Given the description of an element on the screen output the (x, y) to click on. 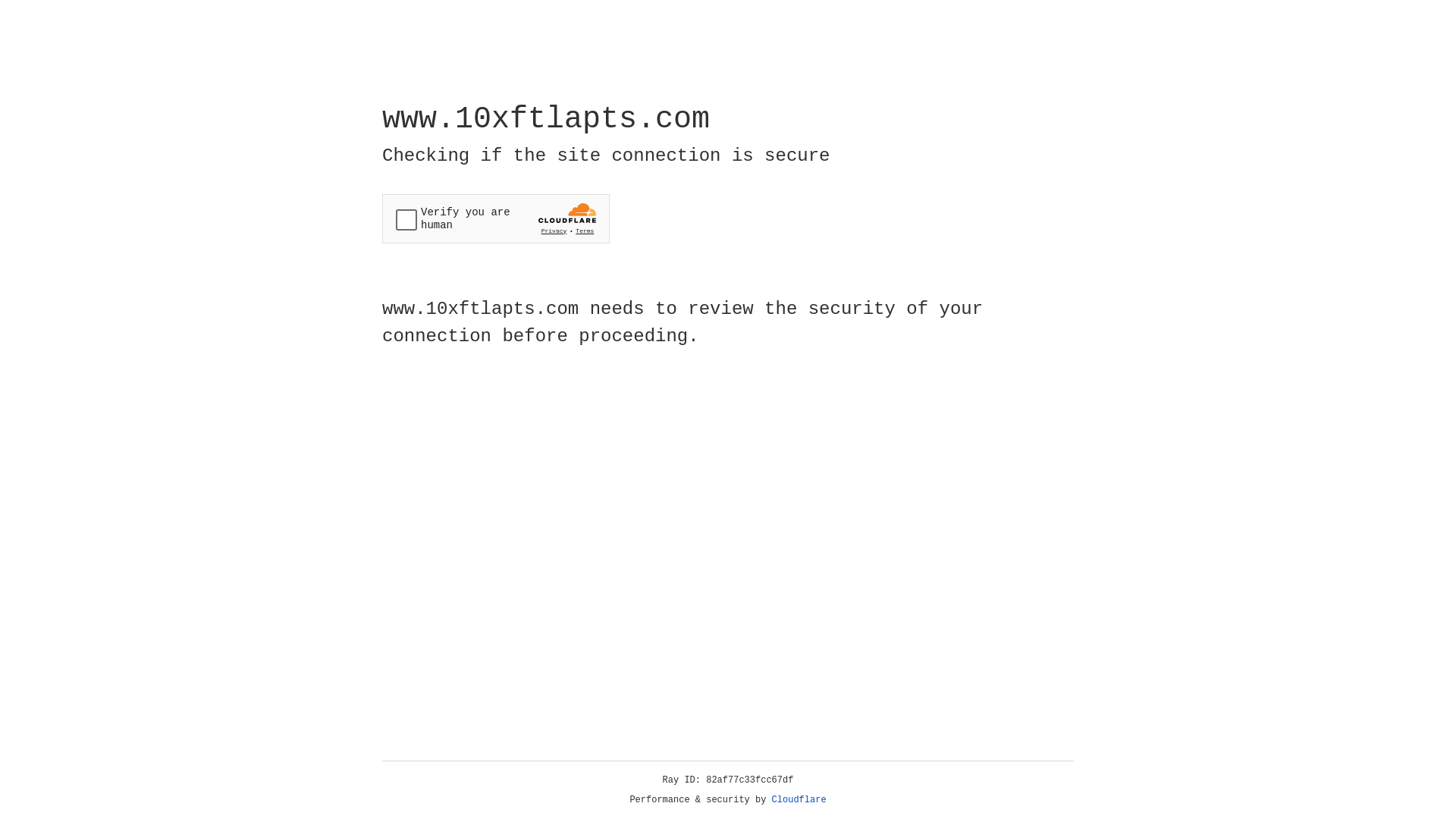
Cloudflare Element type: text (798, 799)
Widget containing a Cloudflare security challenge Element type: hover (495, 218)
